Given the description of an element on the screen output the (x, y) to click on. 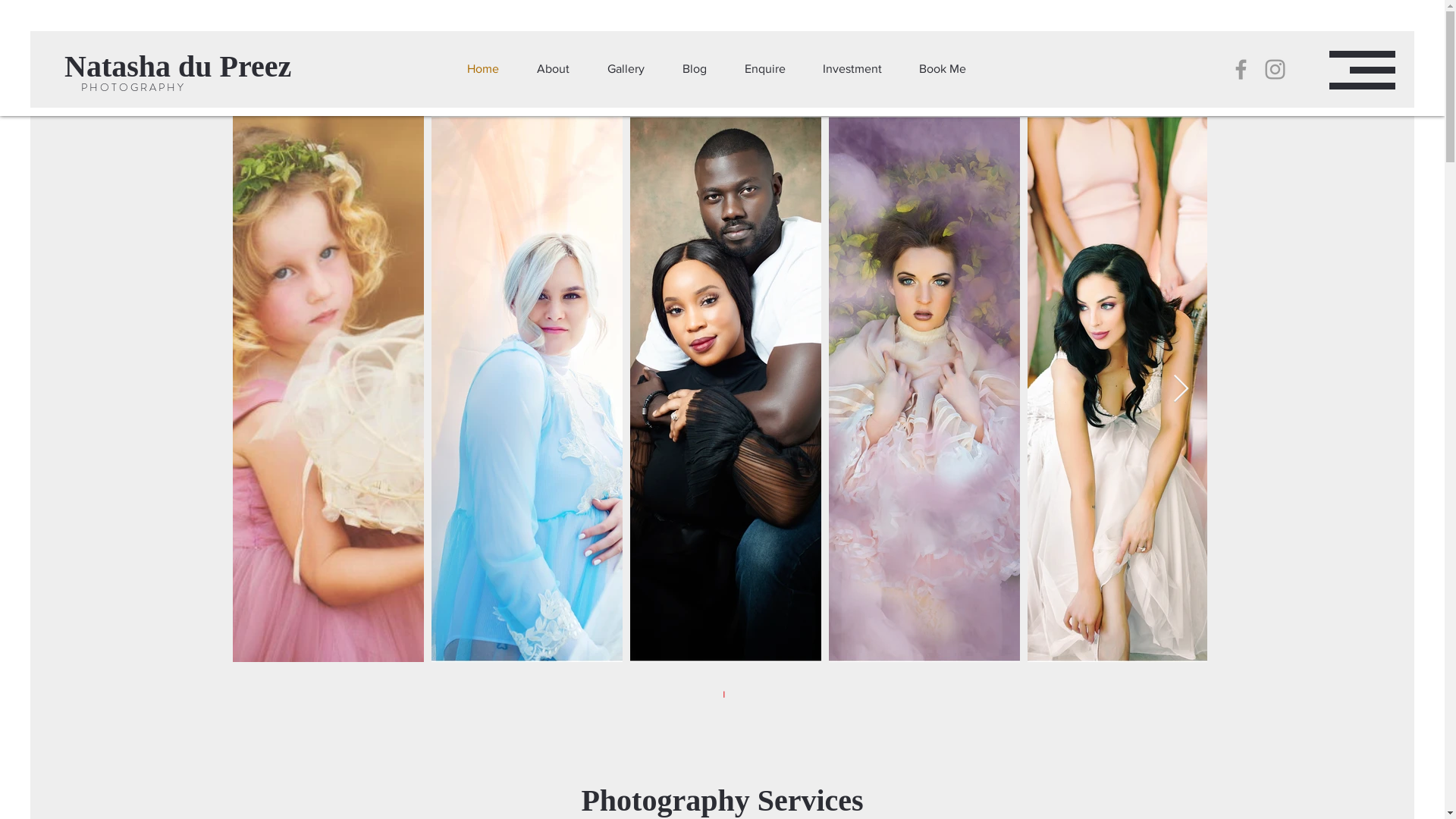
About Element type: text (552, 68)
Blog Element type: text (693, 68)
Book Me Element type: text (942, 68)
Home Element type: text (482, 68)
Investment Element type: text (851, 68)
Enquire Element type: text (763, 68)
Natasha du Preez Element type: text (200, 66)
Log In Element type: text (1041, 57)
Gallery Element type: text (625, 68)
P H O T O G R A P H Y Element type: text (131, 87)
